Given the description of an element on the screen output the (x, y) to click on. 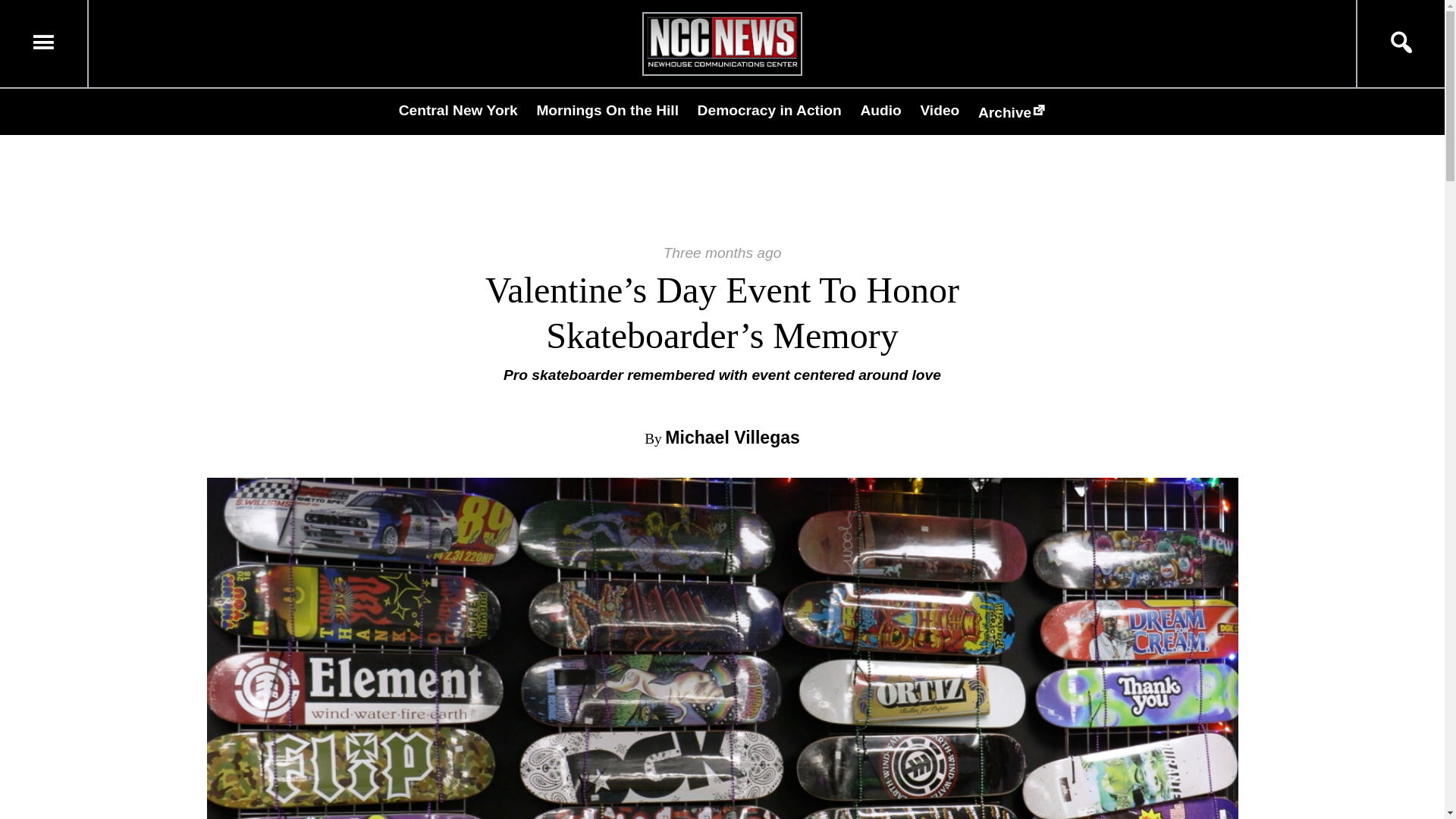
Audio (880, 109)
Central New York (458, 109)
Video (939, 109)
Democracy in Action (769, 109)
Mornings On the Hill (606, 109)
Homepage (721, 66)
Archive (1011, 112)
